Given the description of an element on the screen output the (x, y) to click on. 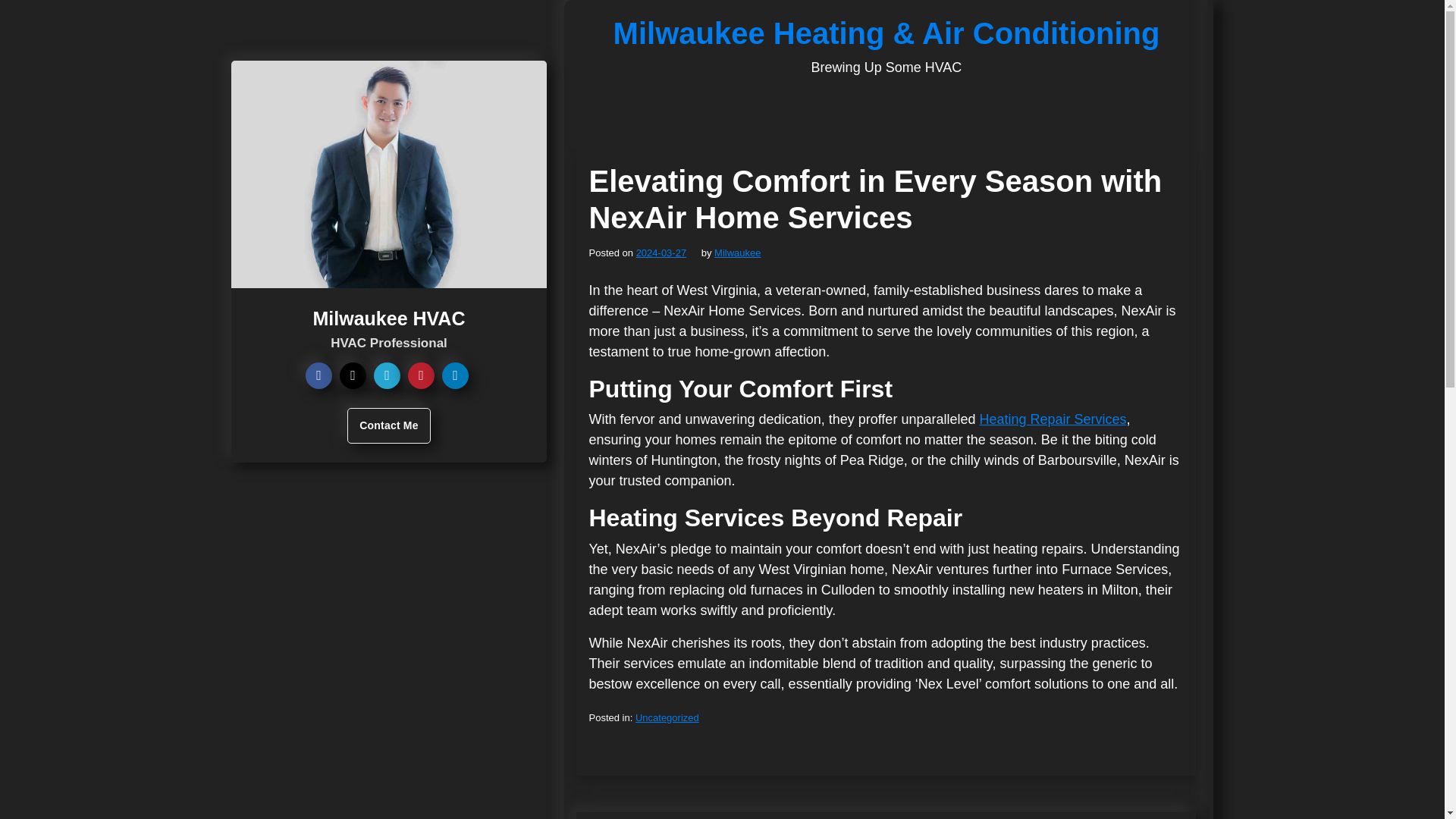
Milwaukee (737, 252)
2024-03-27 (661, 252)
Heating Repair Services (1051, 418)
Contact Me (388, 425)
Uncategorized (666, 717)
